Given the description of an element on the screen output the (x, y) to click on. 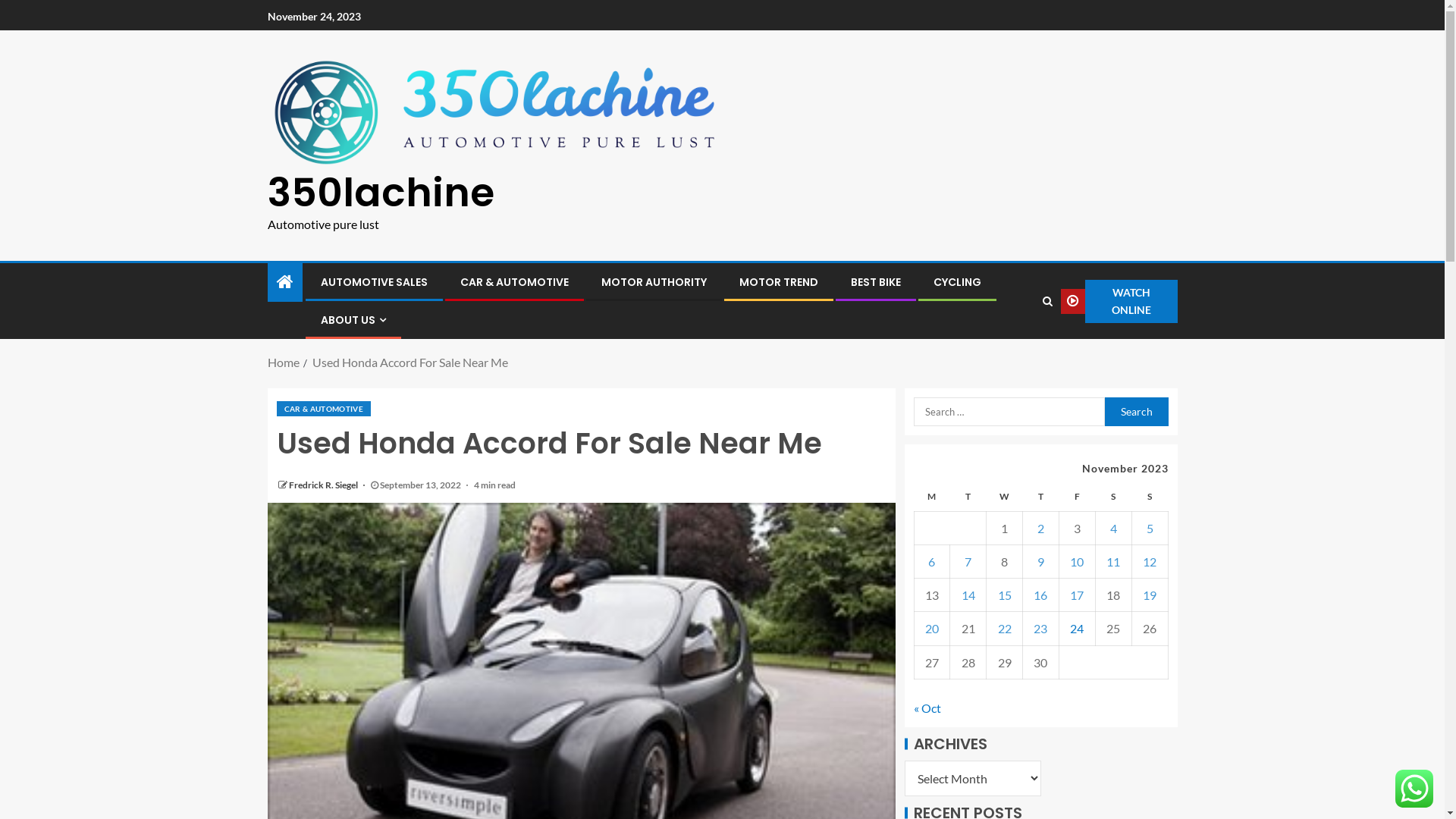
20 Element type: text (931, 628)
ABOUT US Element type: text (352, 319)
Search Element type: hover (1047, 300)
2 Element type: text (1040, 527)
23 Element type: text (1040, 628)
CAR & AUTOMOTIVE Element type: text (513, 281)
22 Element type: text (1004, 628)
6 Element type: text (931, 561)
5 Element type: text (1149, 527)
Search Element type: text (1135, 411)
Home Element type: text (282, 361)
11 Element type: text (1113, 561)
14 Element type: text (968, 594)
AUTOMOTIVE SALES Element type: text (373, 281)
17 Element type: text (1076, 594)
19 Element type: text (1149, 594)
9 Element type: text (1040, 561)
WATCH ONLINE Element type: text (1118, 301)
24 Element type: text (1076, 628)
Used Honda Accord For Sale Near Me Element type: text (410, 361)
16 Element type: text (1040, 594)
CAR & AUTOMOTIVE Element type: text (323, 408)
BEST BIKE Element type: text (875, 281)
Fredrick R. Siegel Element type: text (323, 484)
10 Element type: text (1076, 561)
4 Element type: text (1113, 527)
CYCLING Element type: text (956, 281)
MOTOR AUTHORITY Element type: text (653, 281)
15 Element type: text (1004, 594)
MOTOR TREND Element type: text (777, 281)
350lachine Element type: text (379, 191)
Search Element type: text (1018, 346)
12 Element type: text (1149, 561)
7 Element type: text (967, 561)
